Given the description of an element on the screen output the (x, y) to click on. 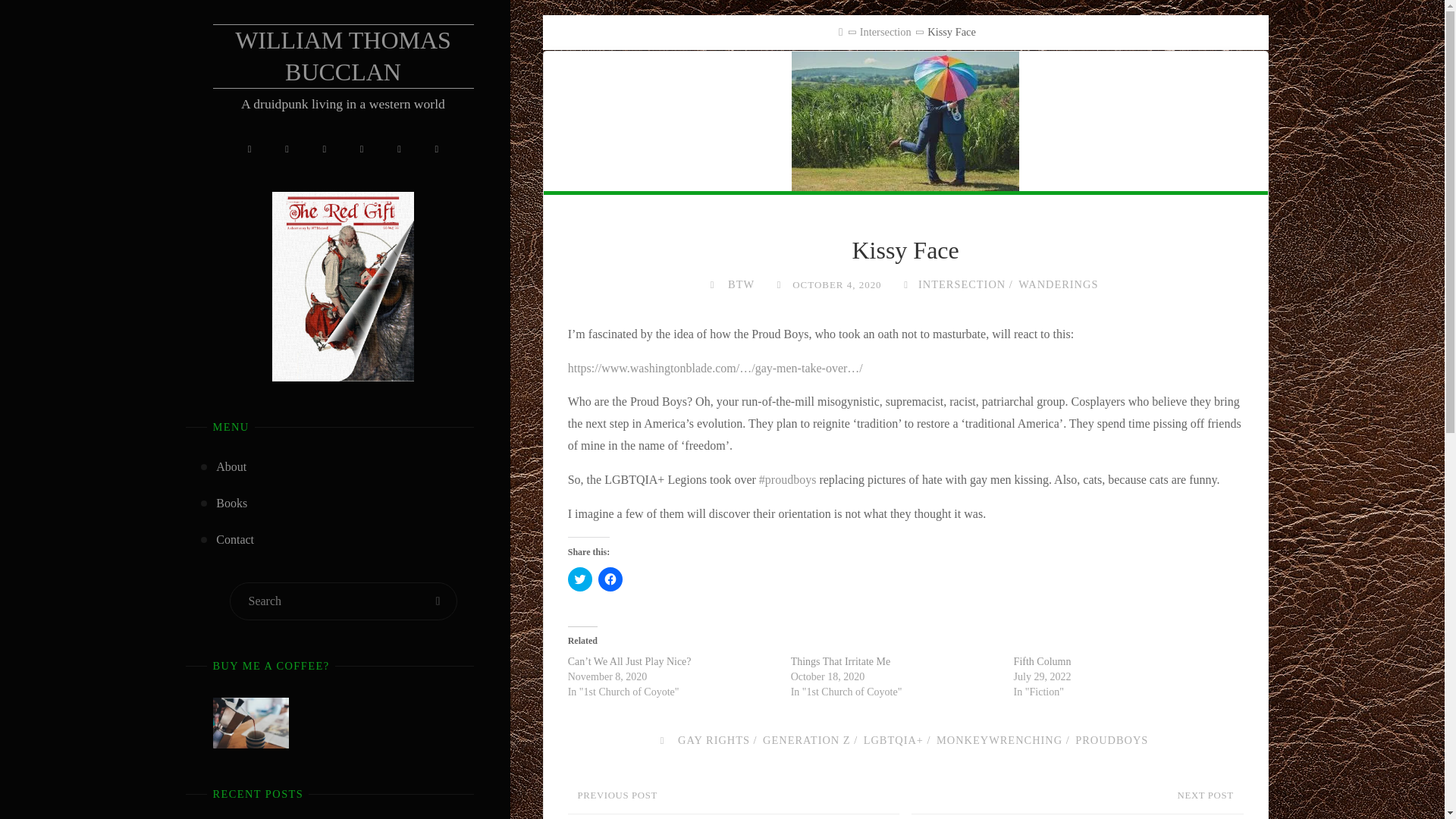
Intersection (885, 31)
ReWild (436, 149)
The Red Gift (342, 286)
INTERSECTION (960, 284)
Contact (234, 539)
BTW (739, 284)
WILLIAM THOMAS BUCCLAN (342, 56)
A druidpunk living in a western world (342, 56)
Instagram (248, 149)
Search (438, 601)
